Given the description of an element on the screen output the (x, y) to click on. 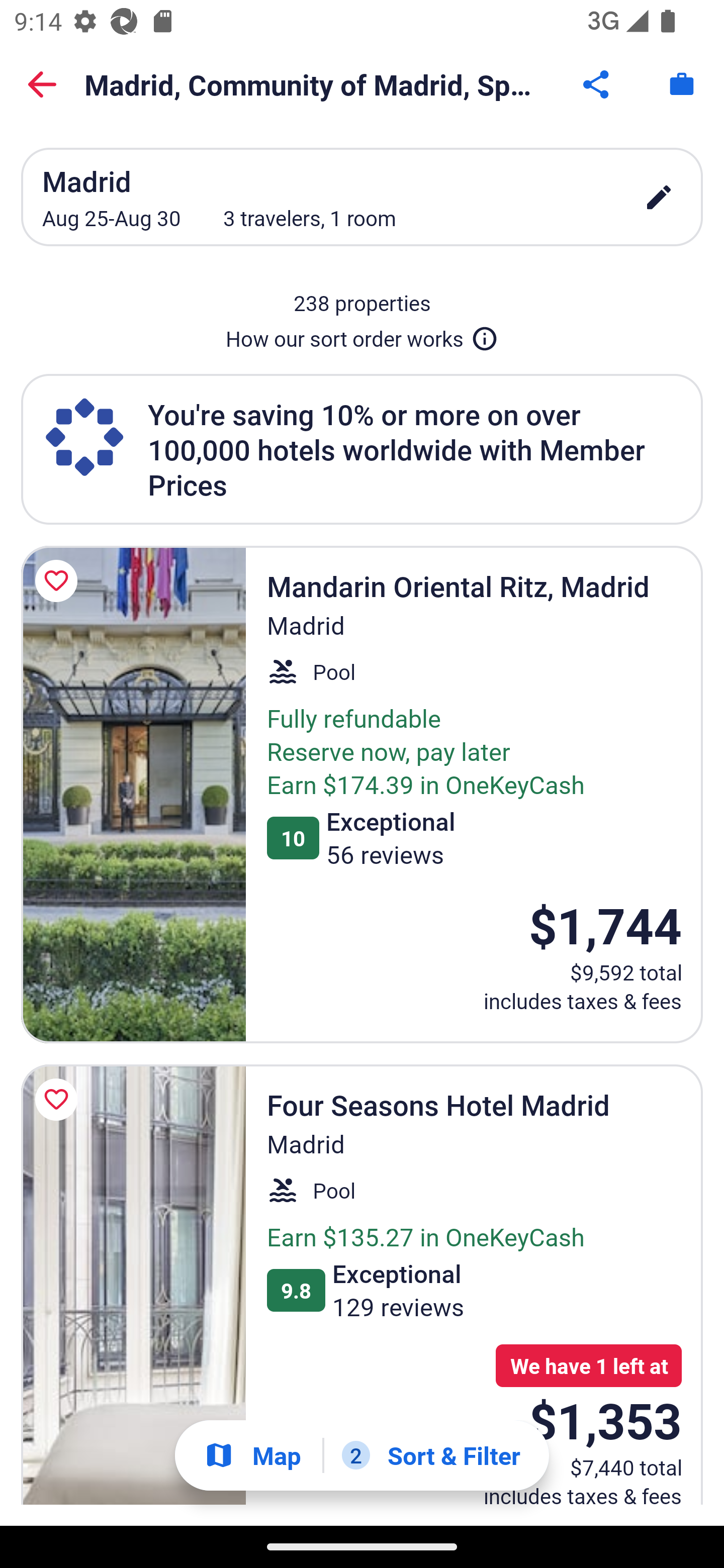
Back (42, 84)
Share Button (597, 84)
Trips. Button (681, 84)
Madrid Aug 25-Aug 30 3 travelers, 1 room edit (361, 196)
How our sort order works (361, 334)
Save Mandarin Oriental Ritz, Madrid to a trip (59, 580)
Mandarin Oriental Ritz, Madrid (133, 793)
Save Four Seasons Hotel Madrid to a trip (59, 1098)
Four Seasons Hotel Madrid (133, 1284)
2 Sort & Filter 2 Filters applied. Filters Button (430, 1455)
Show map Map Show map Button (252, 1455)
